Given the description of an element on the screen output the (x, y) to click on. 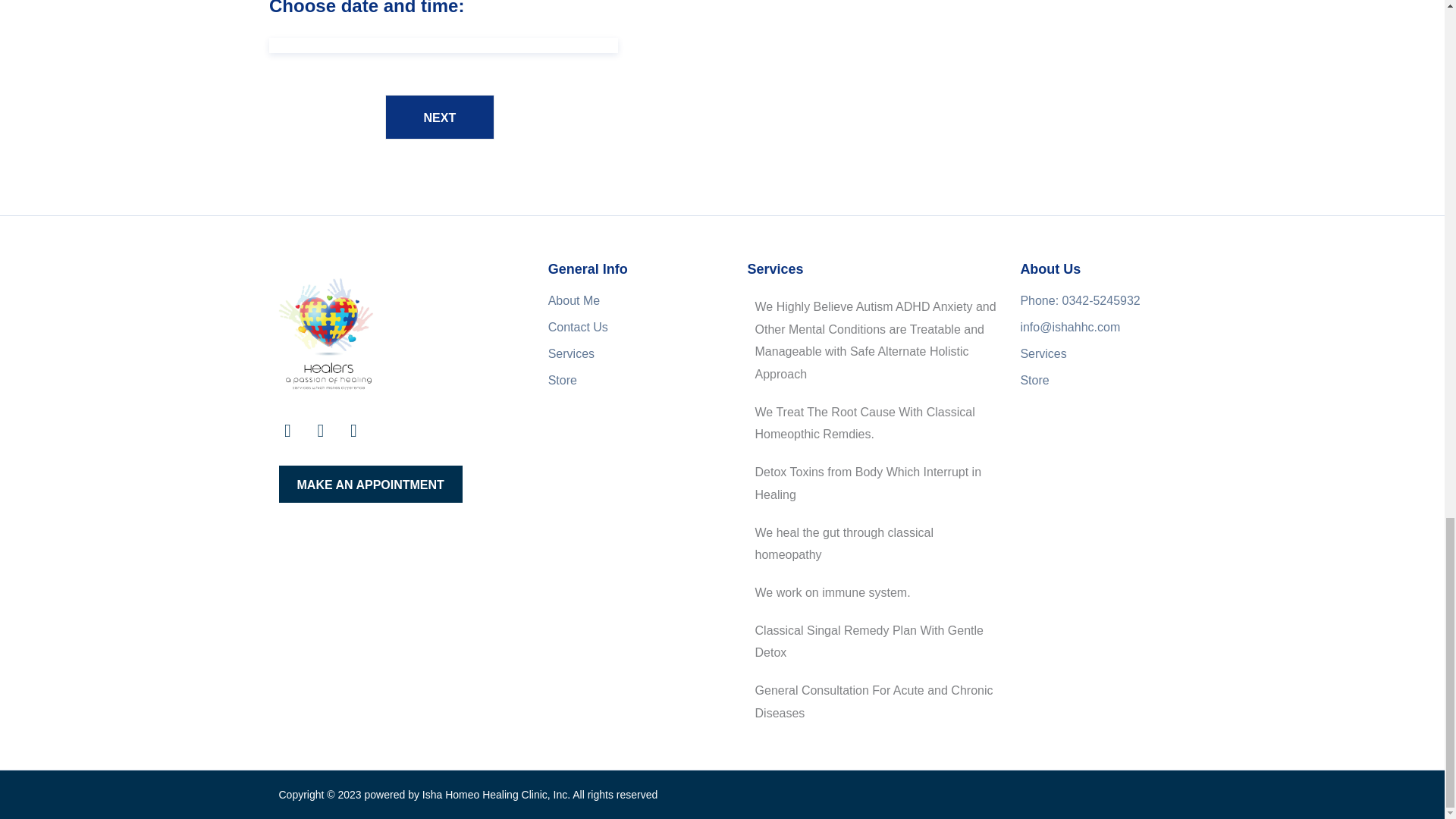
Services (1093, 353)
NEXT (440, 117)
Store (578, 380)
Contact Us (578, 327)
Services (578, 353)
MAKE AN APPOINTMENT (371, 484)
About Me (578, 300)
Phone: 0342-5245932 (1093, 300)
Store (1093, 380)
